Given the description of an element on the screen output the (x, y) to click on. 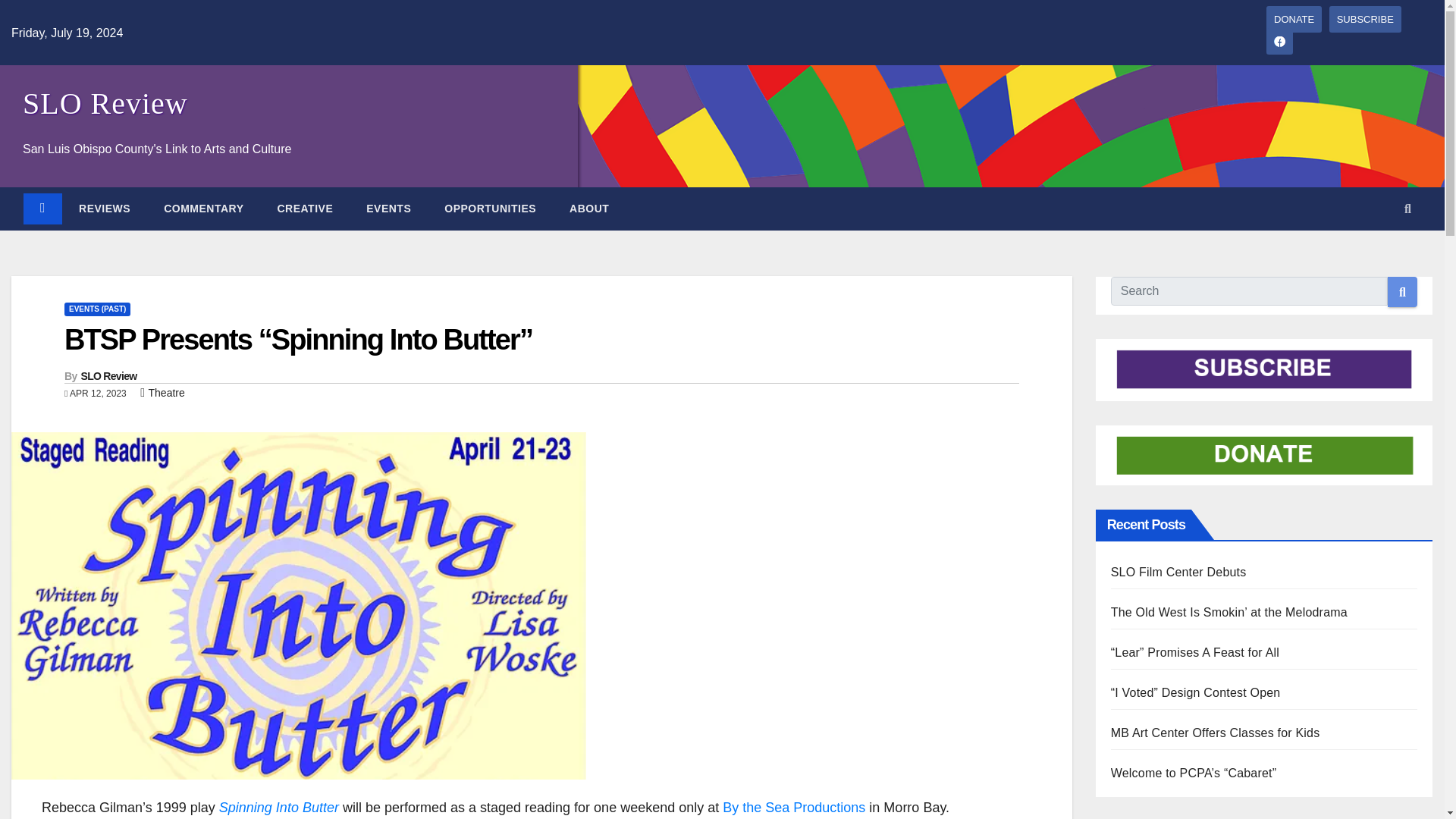
SLO Review (108, 376)
Home (42, 208)
Reviews (104, 208)
COMMENTARY (203, 208)
Opportunities (490, 208)
EVENTS (388, 208)
REVIEWS (104, 208)
DONATE (1294, 18)
About (589, 208)
Creative (304, 208)
CREATIVE (304, 208)
OPPORTUNITIES (490, 208)
SLO Review (105, 103)
By the Sea Productions (793, 807)
Theatre (166, 392)
